Given the description of an element on the screen output the (x, y) to click on. 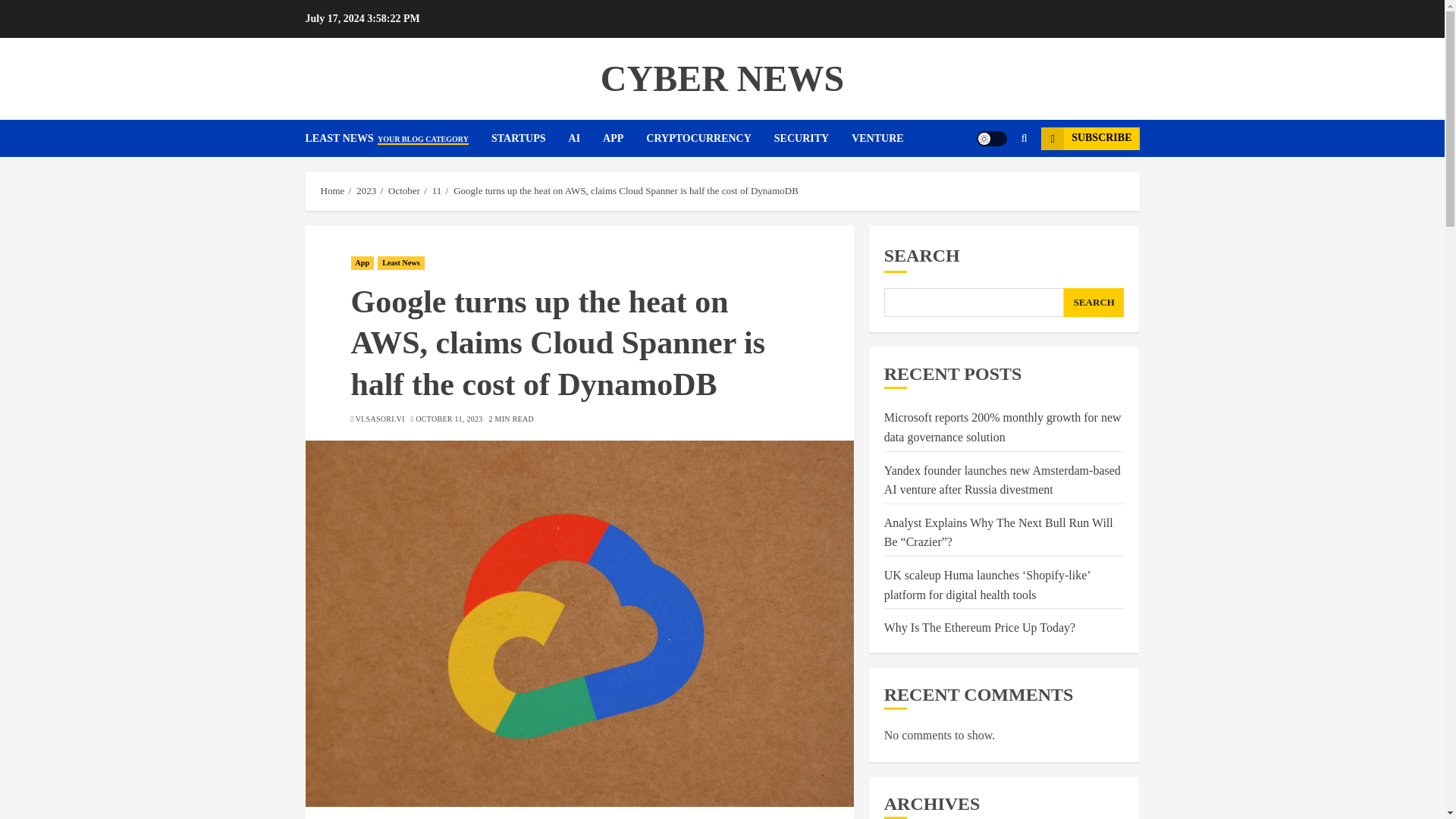
App (362, 263)
CRYPTOCURRENCY (709, 138)
SUBSCRIBE (1089, 138)
CYBER NEWS (721, 78)
VI.SASORI.VI (379, 419)
LEAST NEWSYOUR BLOG CATEGORY (397, 138)
VENTURE (876, 138)
APP (624, 138)
2023 (365, 191)
AI (586, 138)
October (404, 191)
Search (994, 184)
OCTOBER 11, 2023 (447, 419)
SECURITY (812, 138)
